Given the description of an element on the screen output the (x, y) to click on. 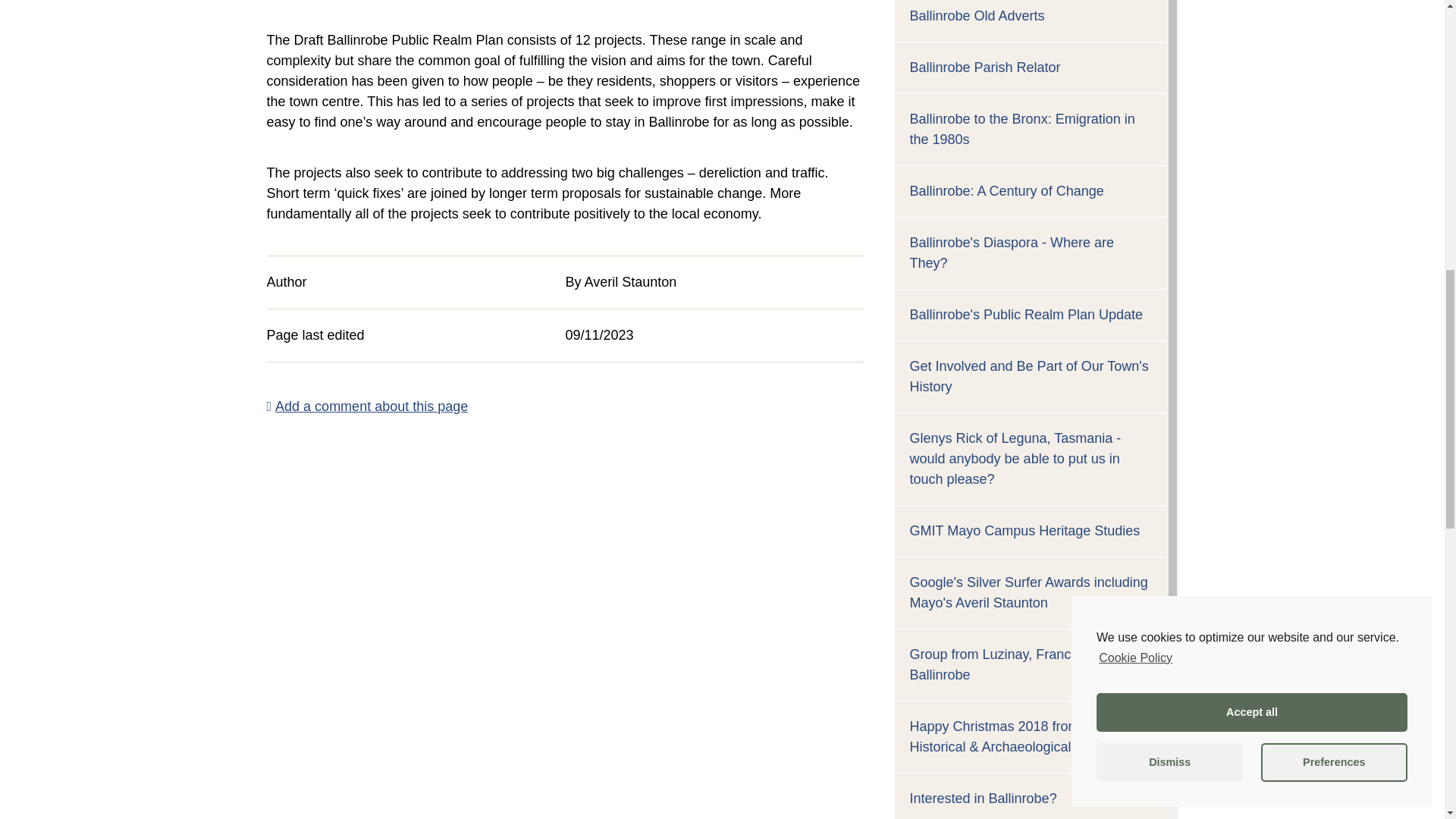
Ballinrobe: A Century of Change (1006, 191)
Ballinrobe's Diaspora - Where are They? (1012, 253)
Ballinrobe to the Bronx: Emigration in the 1980s (1022, 129)
Ballinrobe Parish Relator (985, 67)
Add a comment about this page (367, 406)
Ballinrobe Old Adverts (977, 15)
